Given the description of an element on the screen output the (x, y) to click on. 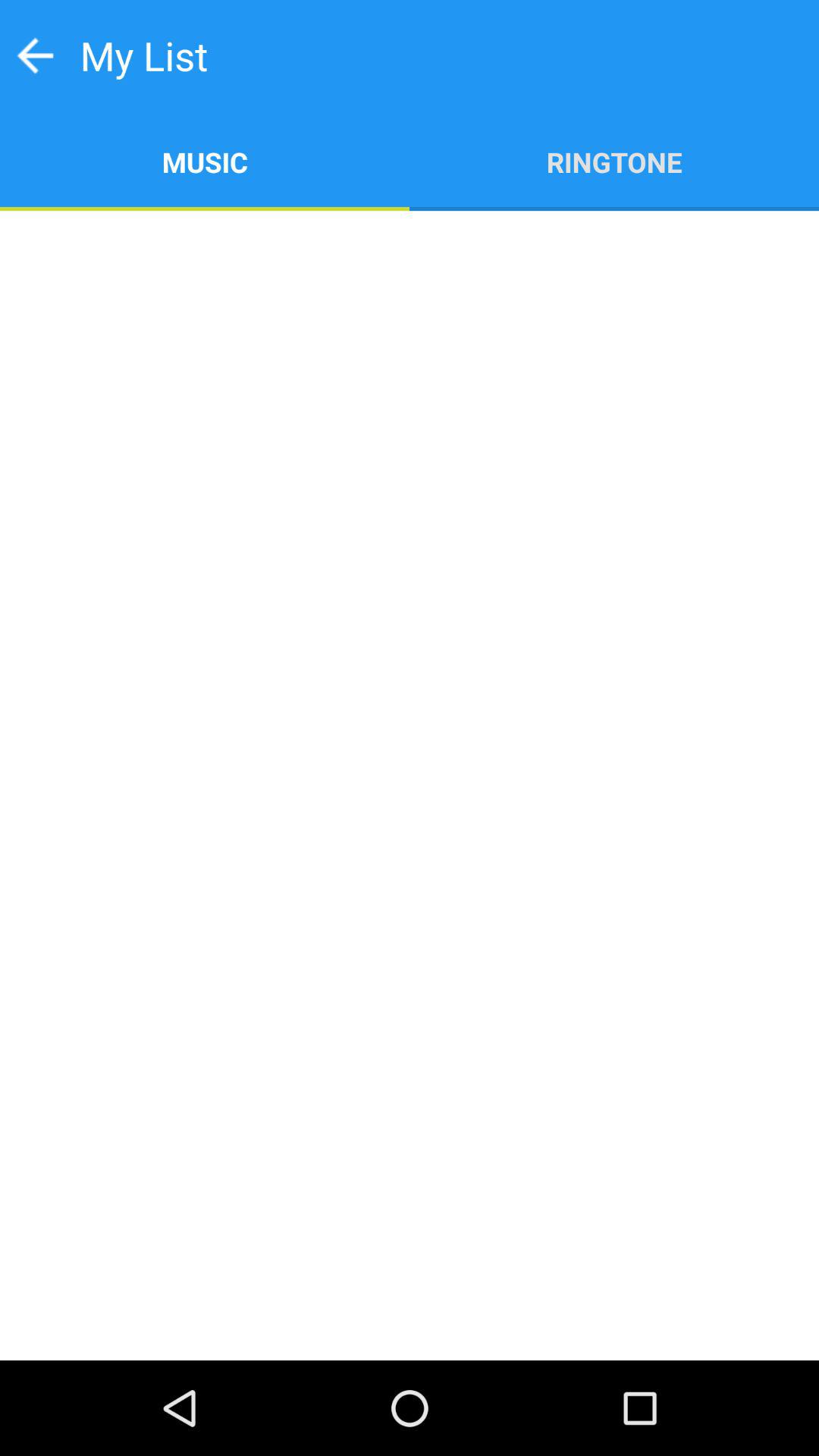
choose item to the right of music icon (614, 161)
